Given the description of an element on the screen output the (x, y) to click on. 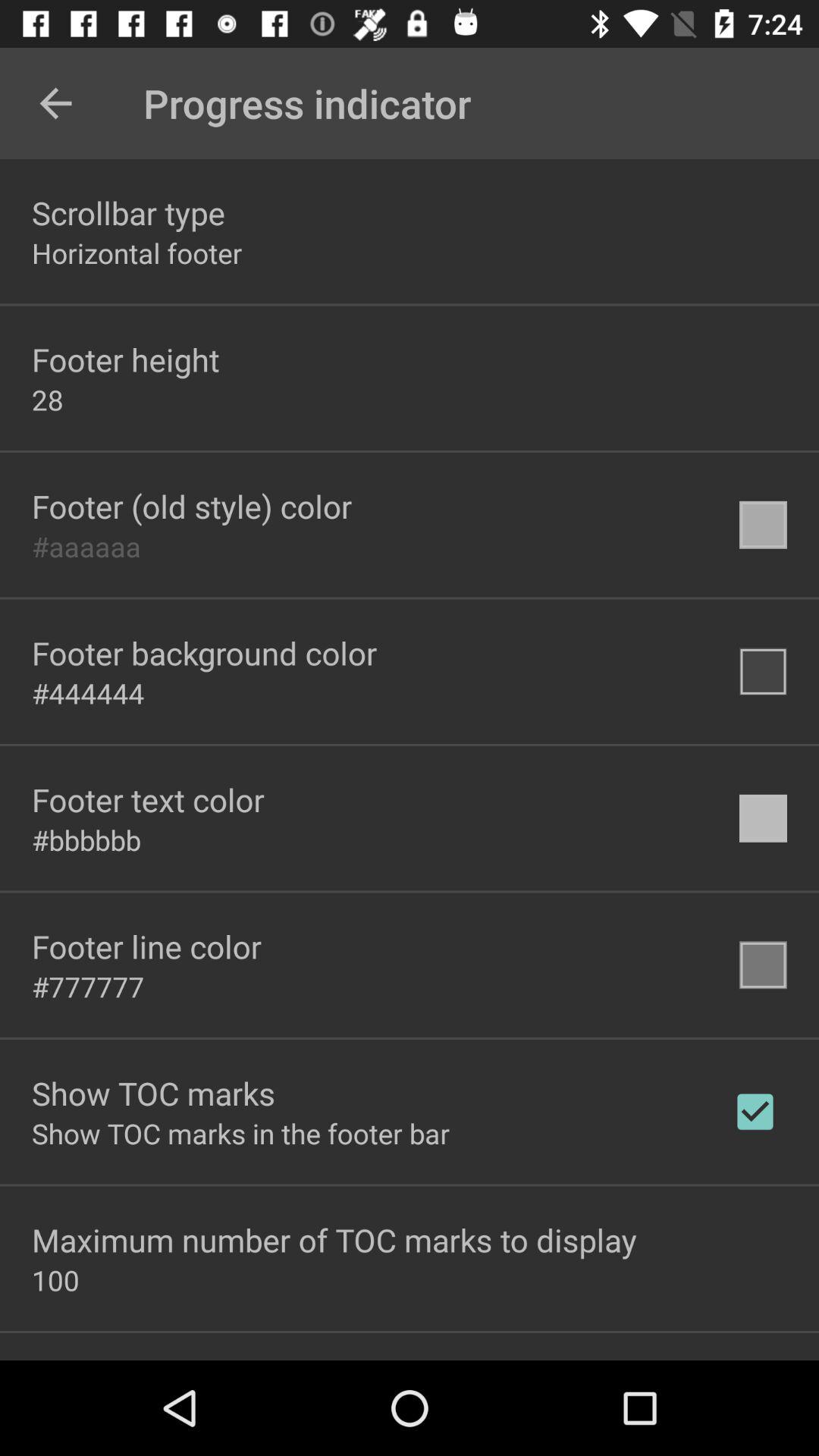
press icon above show toc marks icon (87, 986)
